Given the description of an element on the screen output the (x, y) to click on. 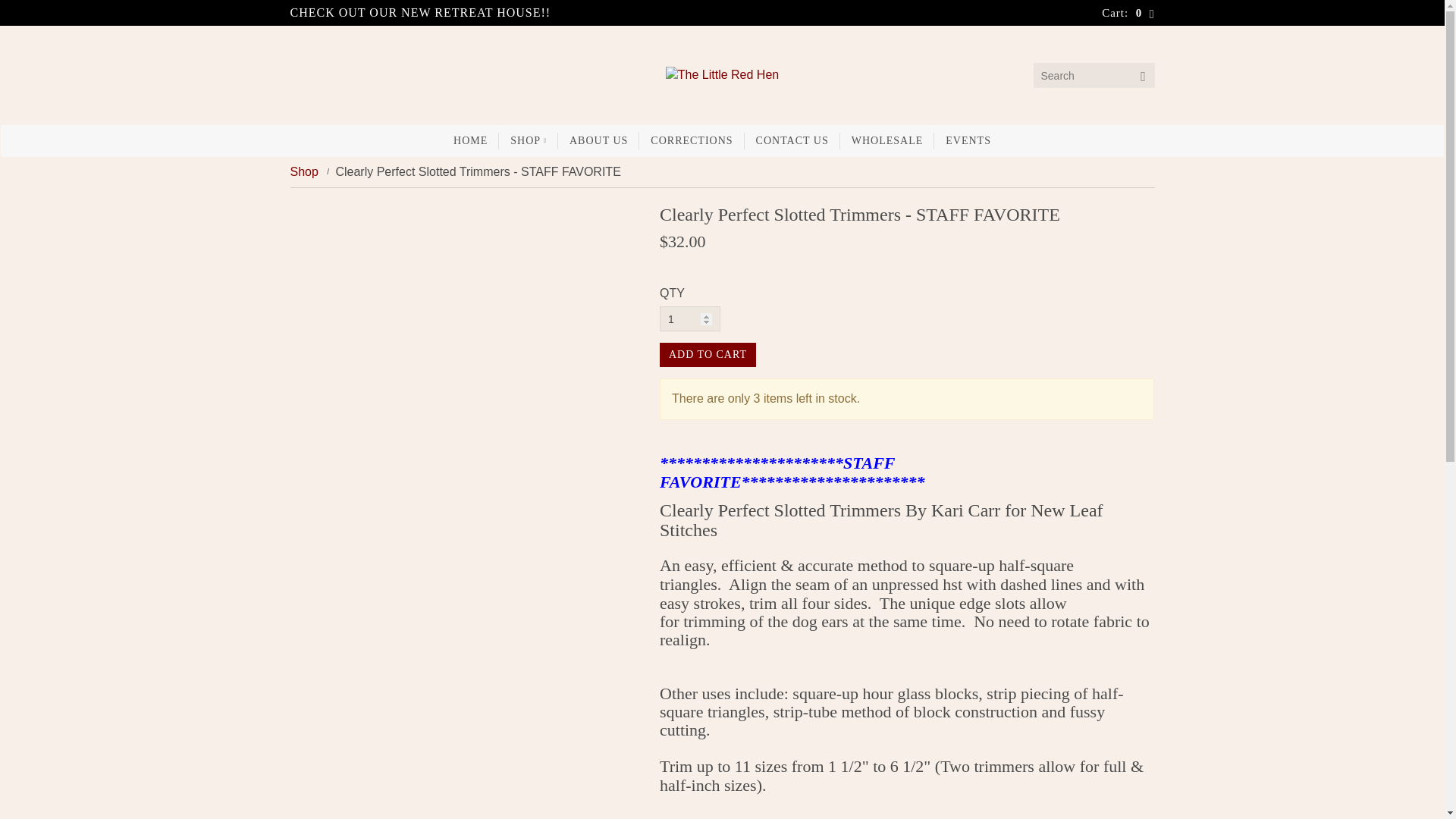
CONTACT US (792, 141)
1 (689, 318)
EVENTS (968, 141)
HOME (470, 141)
Add to Cart (707, 354)
Add to Cart (707, 354)
WHOLESALE (887, 141)
Cart:  0   (1128, 12)
ABOUT US (598, 141)
SHOP (528, 141)
